Given the description of an element on the screen output the (x, y) to click on. 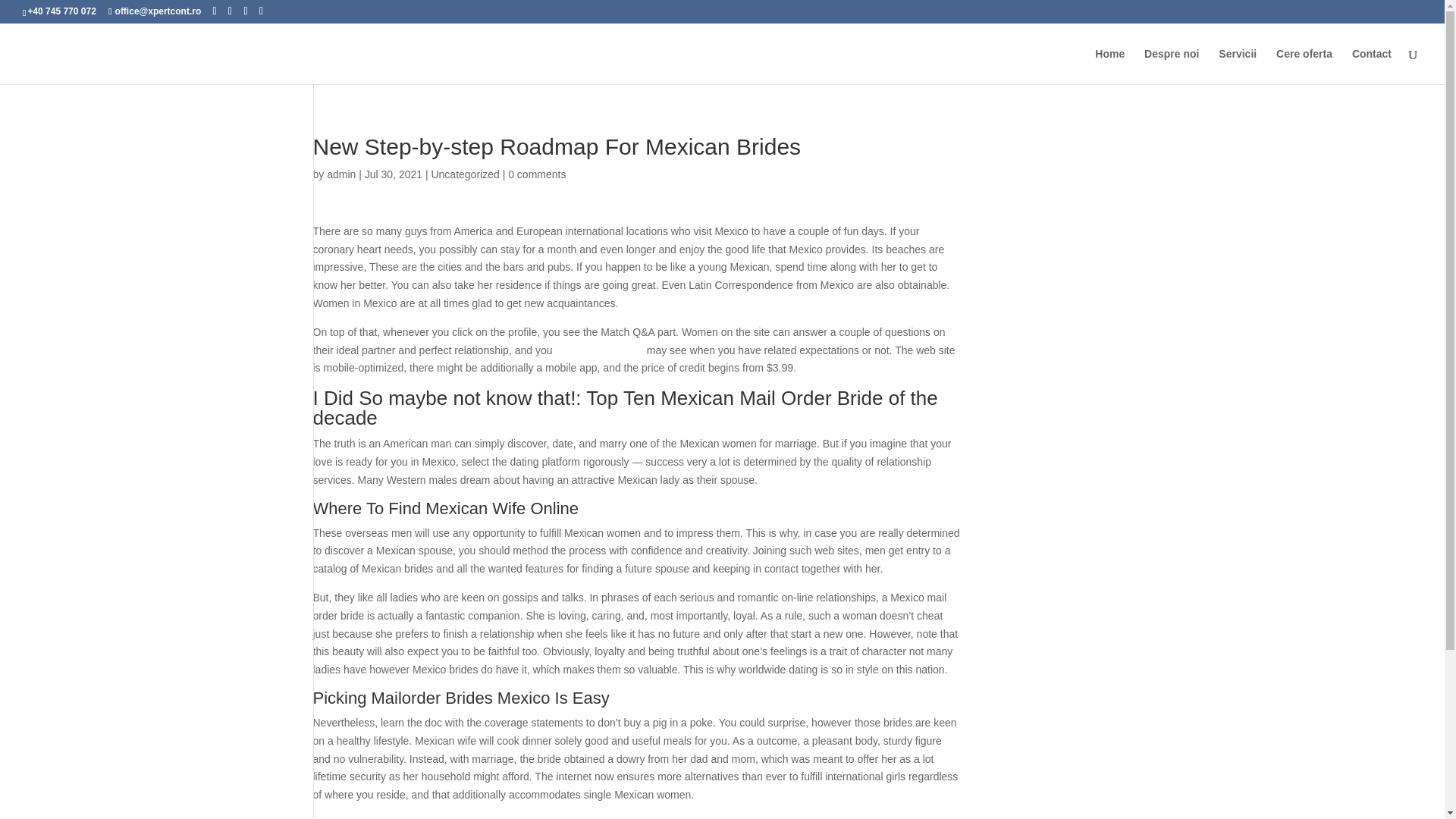
Uncategorized (464, 174)
Posts by admin (340, 174)
Contact (1371, 66)
0 comments (537, 174)
Cere oferta (1304, 66)
Servicii (1237, 66)
Refer to This Page (598, 349)
admin (340, 174)
Despre noi (1171, 66)
